Given the description of an element on the screen output the (x, y) to click on. 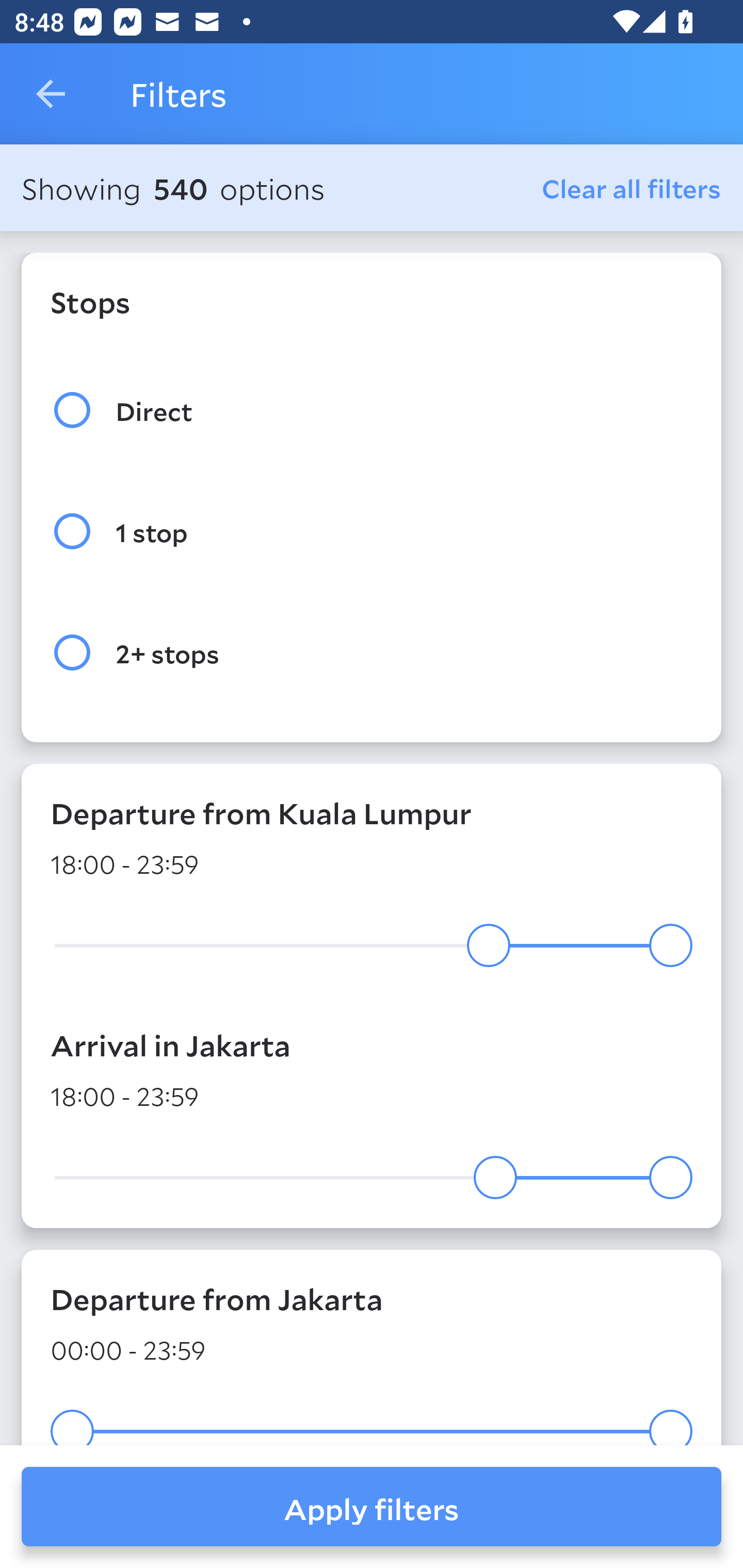
Navigate up (50, 93)
Clear all filters (631, 187)
Direct (371, 409)
1 stop (371, 531)
2+ stops (371, 652)
Apply filters (371, 1506)
